Given the description of an element on the screen output the (x, y) to click on. 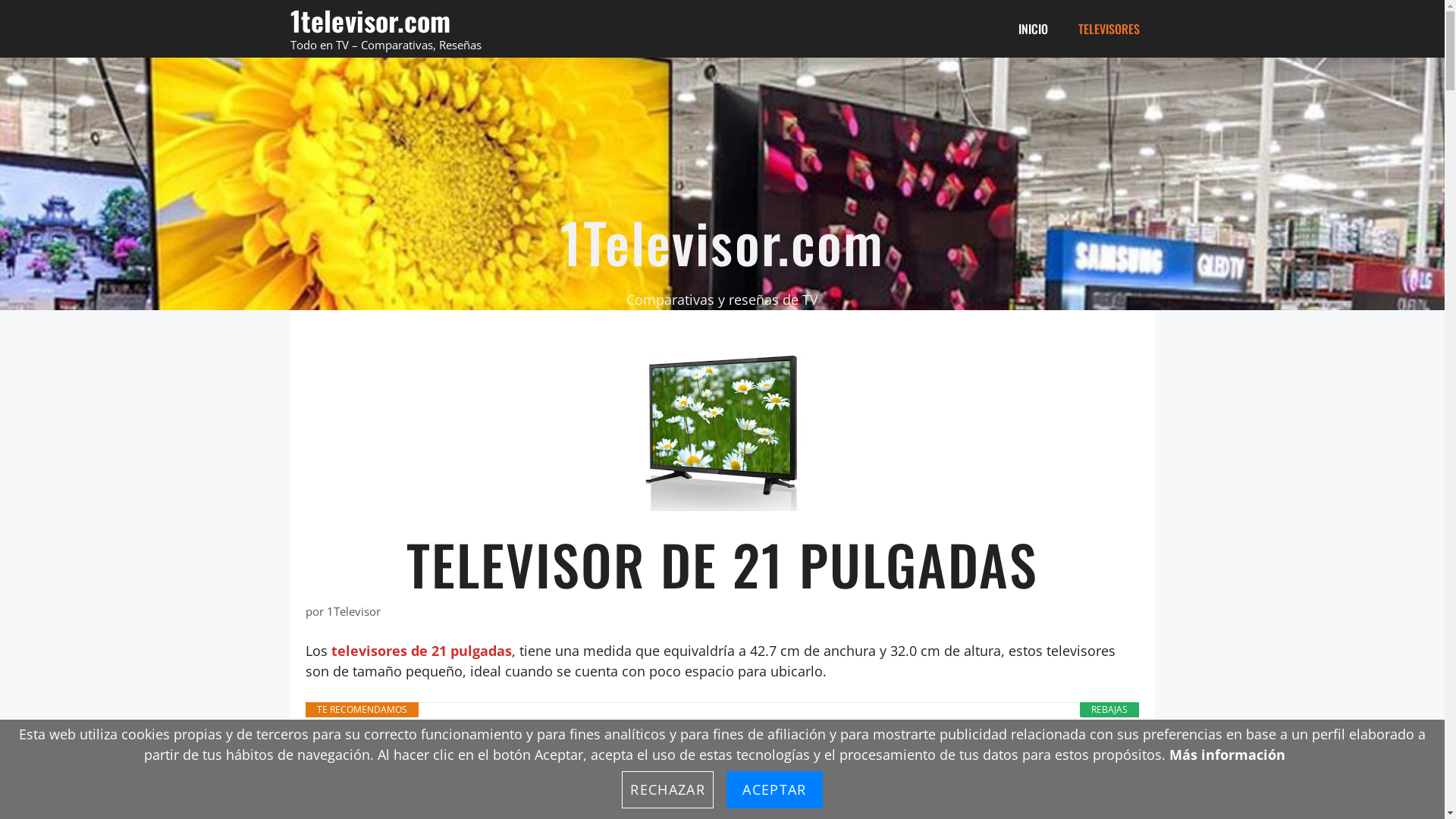
1Televisor Element type: text (352, 610)
INICIO Element type: text (1032, 28)
RECHAZAR Element type: text (667, 789)
televisores de 21 pulgadas Element type: text (420, 650)
TELEVISORES Element type: text (1108, 28)
ACEPTAR Element type: text (774, 789)
1televisor.com Element type: text (369, 20)
